Given the description of an element on the screen output the (x, y) to click on. 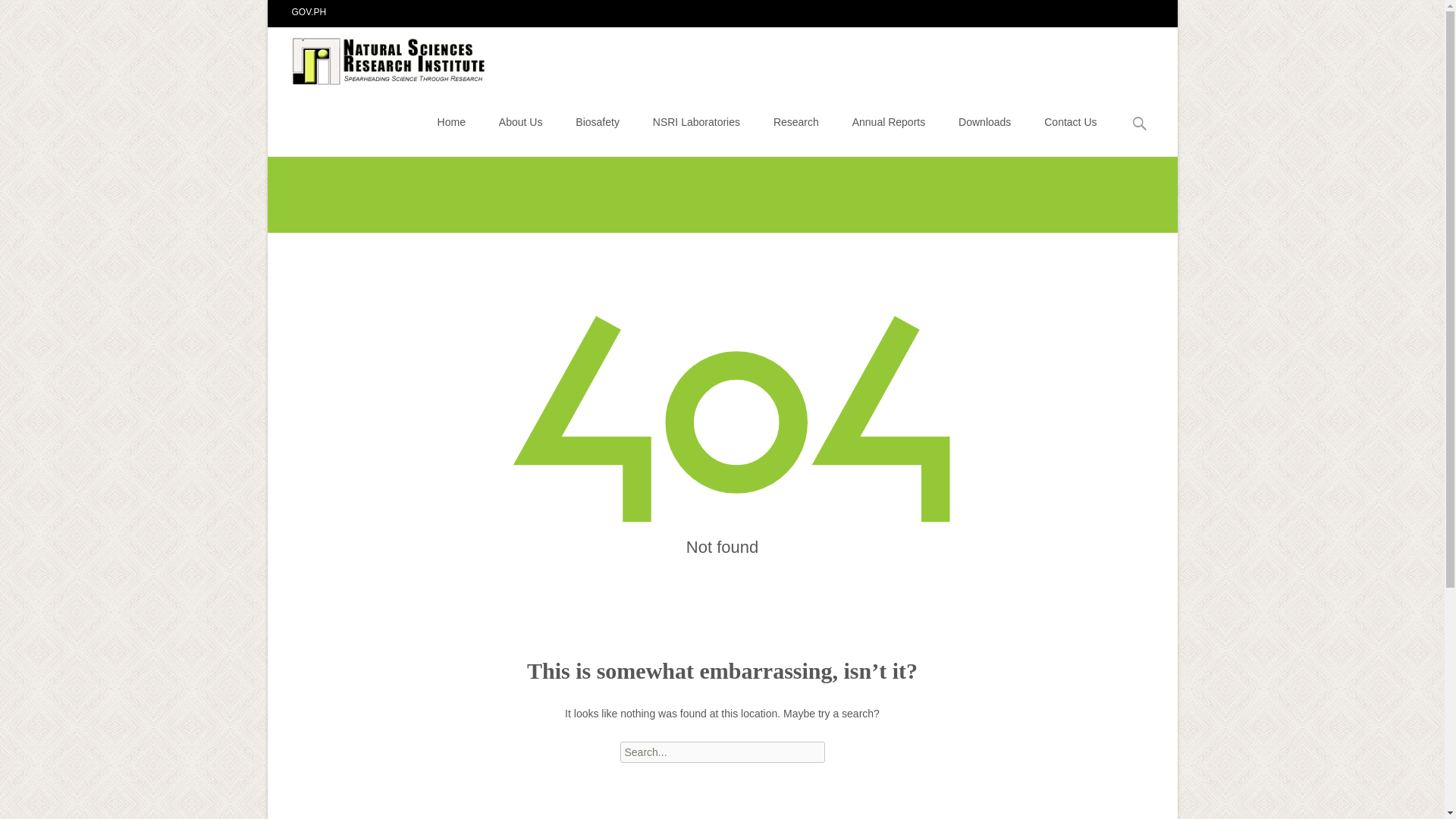
Search (18, 14)
GOV.PH (308, 11)
Search for: (722, 752)
Natural Sciences Research Institute (378, 57)
Search (34, 14)
Search for: (1139, 123)
NSRI Laboratories (695, 121)
Annual Reports (888, 121)
